Given the description of an element on the screen output the (x, y) to click on. 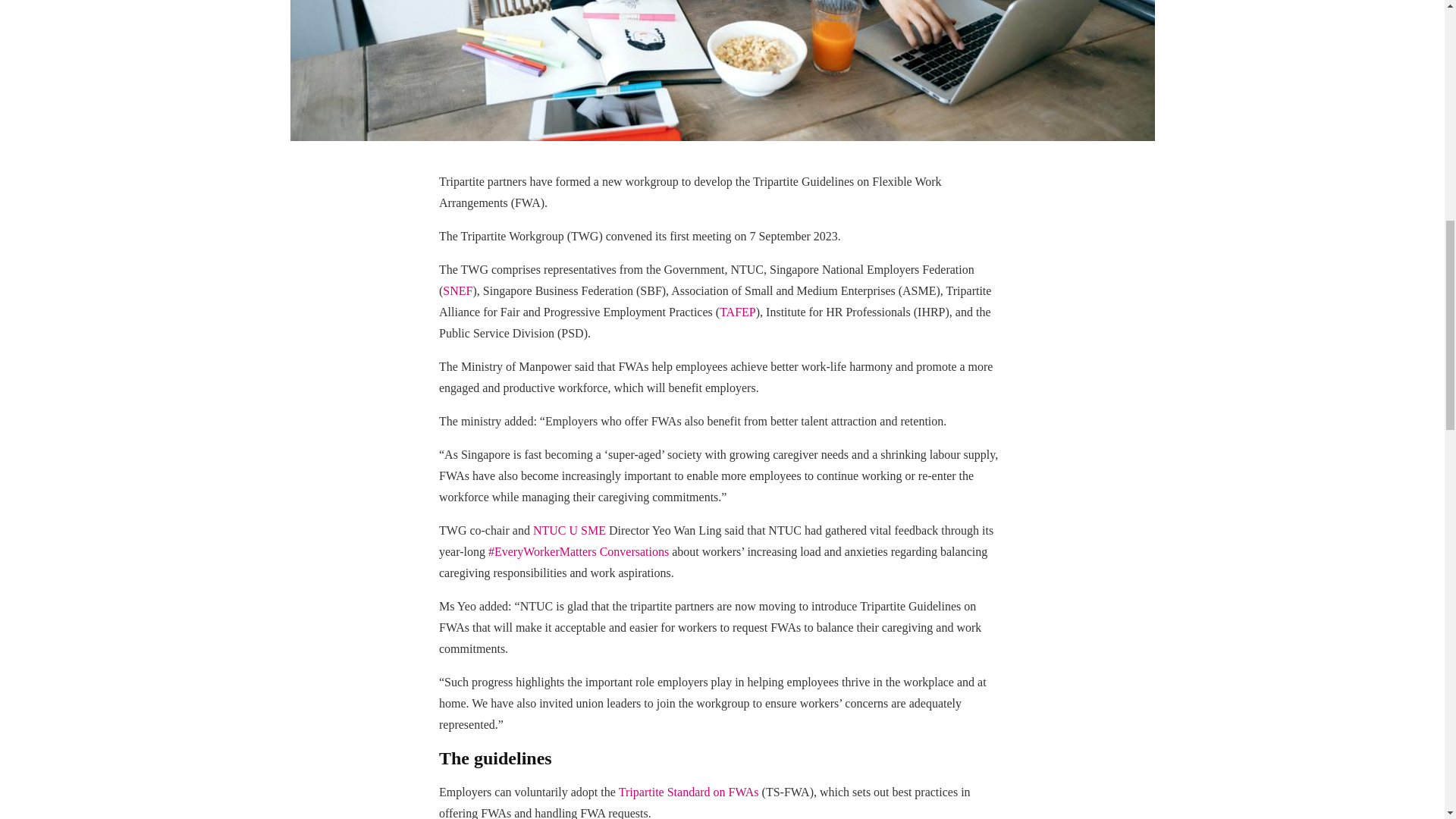
NTUC U SME (568, 530)
SNEF (456, 290)
TAFEP (737, 311)
Tripartite Standard on FWAs (688, 791)
